Given the description of an element on the screen output the (x, y) to click on. 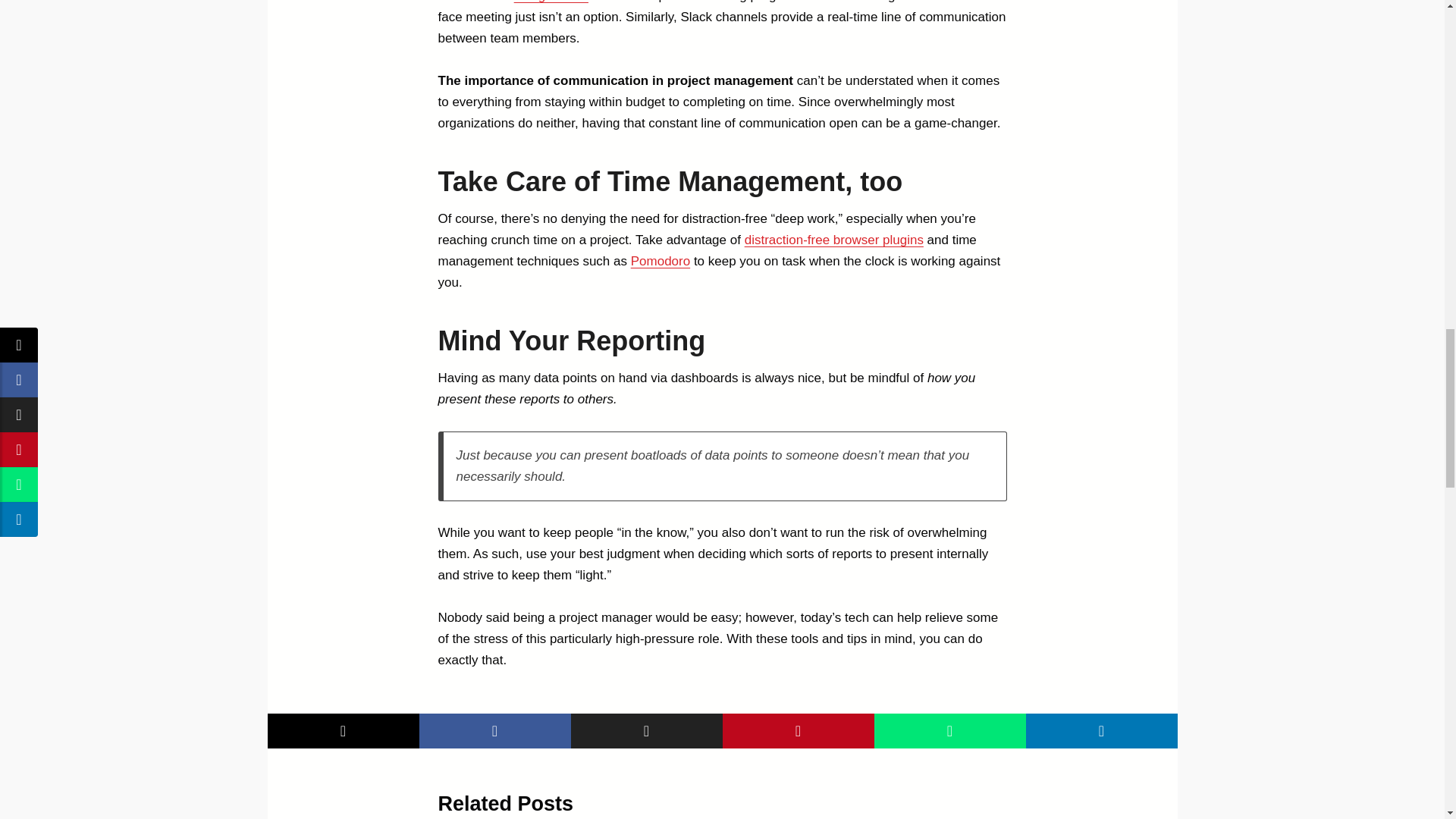
Pomodoro (660, 260)
distraction-free browser plugins (833, 239)
Google Docs (550, 1)
